Given the description of an element on the screen output the (x, y) to click on. 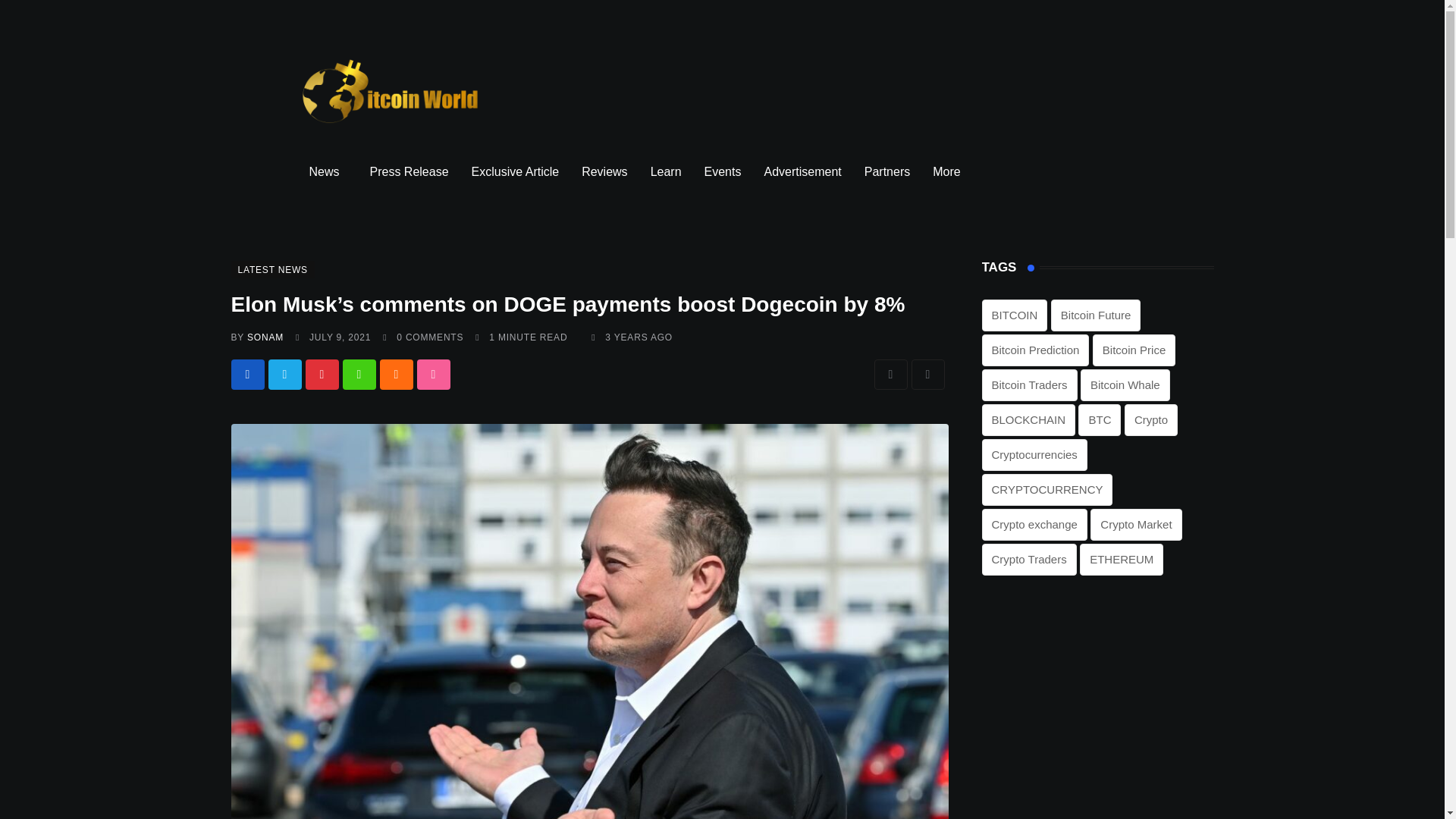
Press Release (409, 171)
Advertisement (801, 171)
Learn (666, 171)
News (327, 171)
More (949, 171)
Reviews (604, 171)
Posts by sonam (265, 337)
LATEST NEWS (272, 268)
Events (722, 171)
Exclusive Article (515, 171)
